Given the description of an element on the screen output the (x, y) to click on. 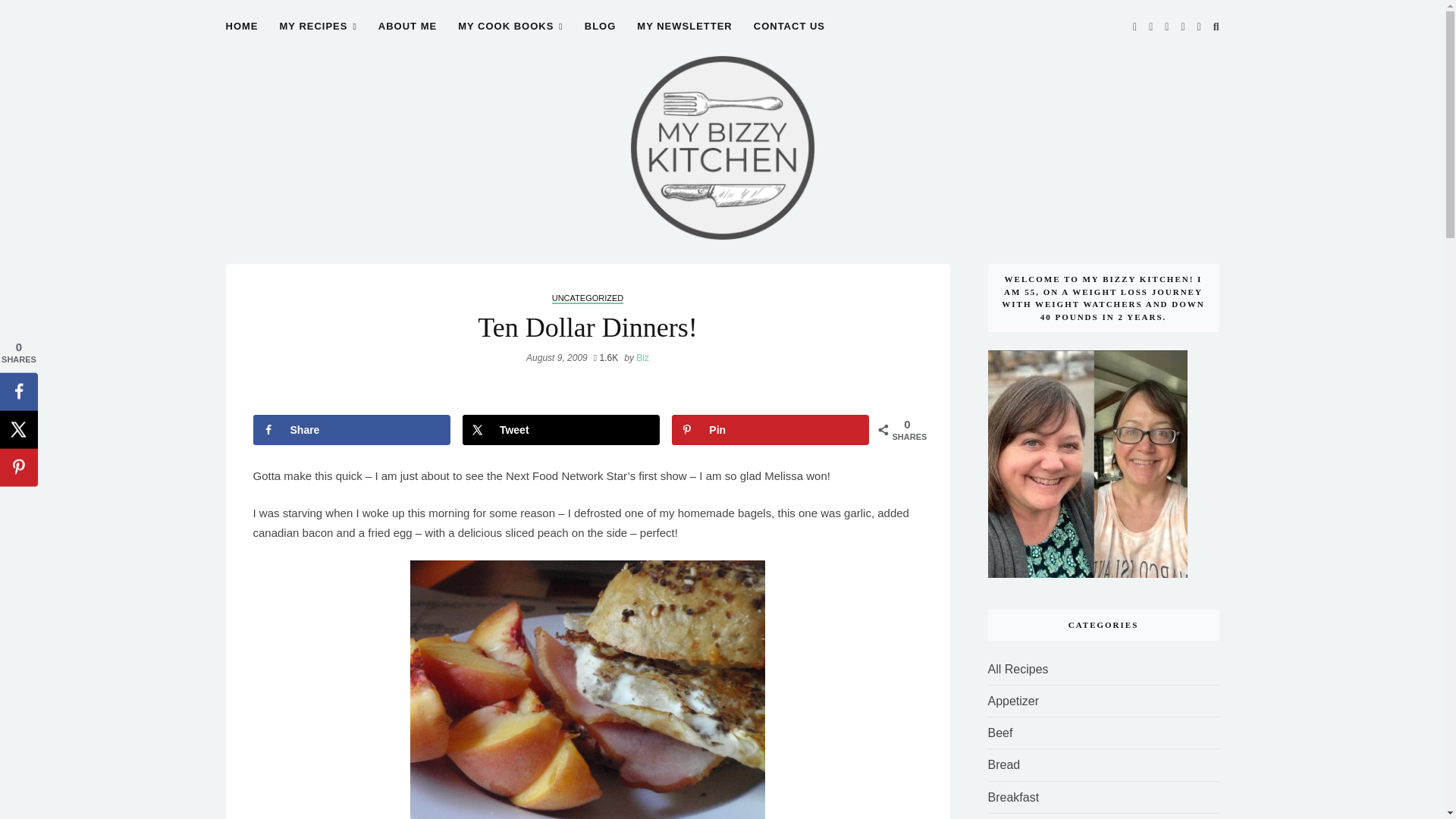
Share on X (561, 429)
HOME (242, 35)
P8090042 (587, 689)
Share on Facebook (351, 429)
MY RECIPES (317, 35)
Save to Pinterest (770, 429)
